Given the description of an element on the screen output the (x, y) to click on. 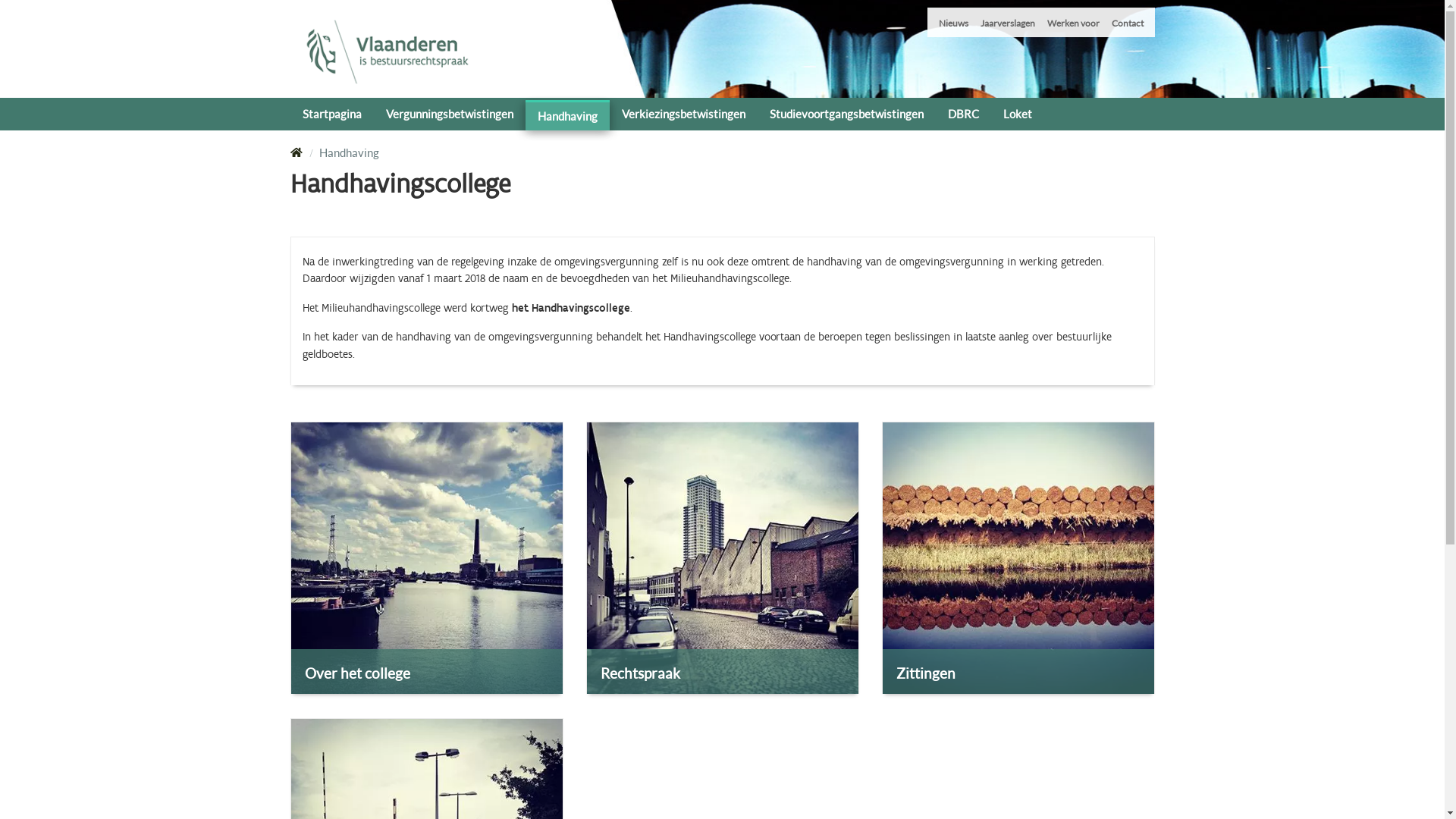
Werken voor Element type: text (1072, 22)
Verkiezingsbetwistingen Element type: text (683, 112)
Jaarverslagen Element type: text (1006, 22)
Nieuws Element type: text (953, 22)
Loket Element type: text (1016, 112)
Contact Element type: text (1127, 22)
Ga naar de homepage Element type: hover (386, 51)
Handhaving Element type: text (566, 114)
Naar de inhoud Element type: text (0, 0)
Home Element type: text (295, 153)
Startpagina Element type: text (331, 112)
Studievoortgangsbetwistingen Element type: text (845, 112)
Vergunningsbetwistingen Element type: text (448, 112)
DBRC Element type: text (963, 112)
